Given the description of an element on the screen output the (x, y) to click on. 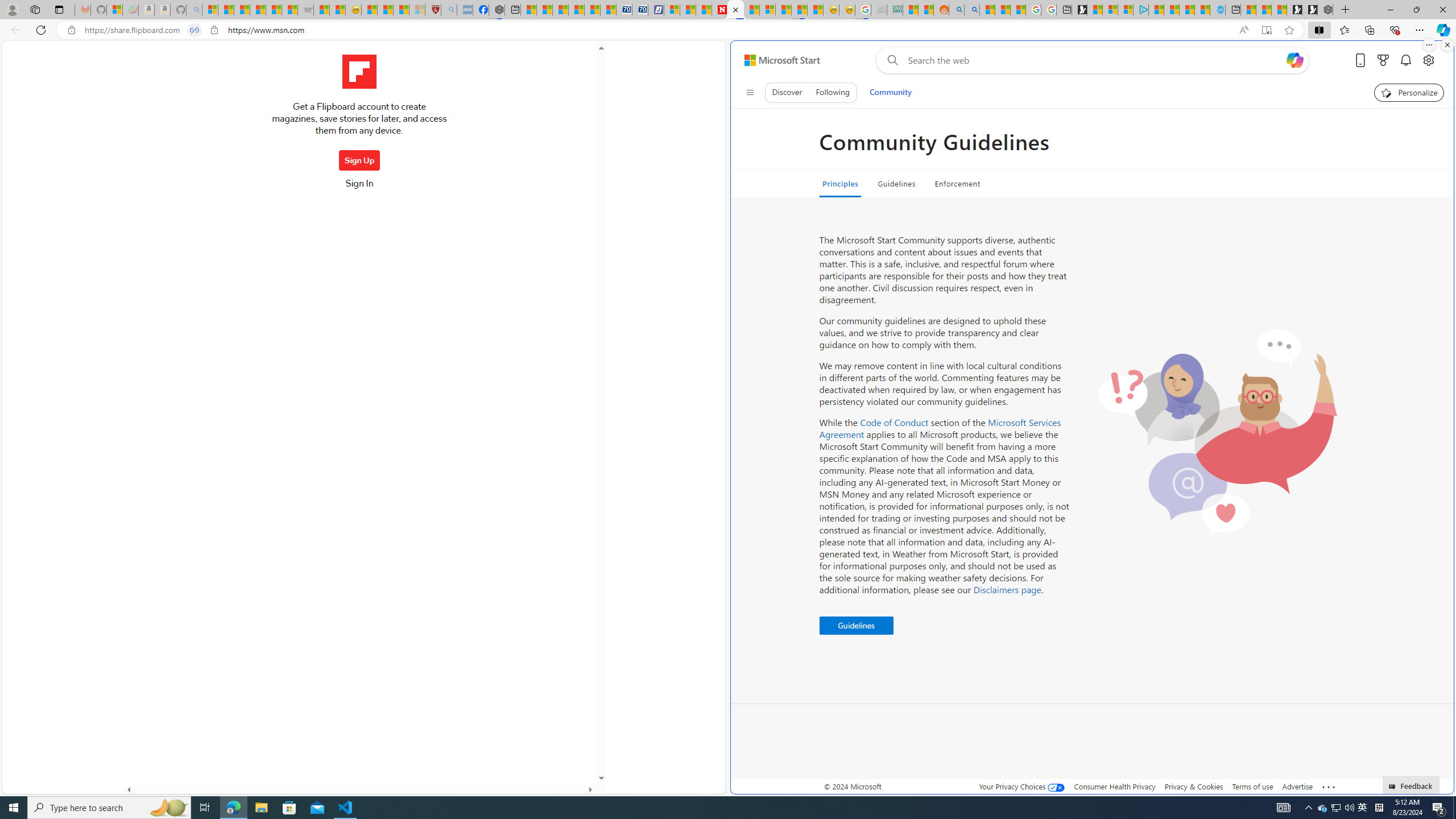
Disclaimers page (1006, 589)
Tabs in split screen (194, 29)
Class: oneFooter_seeMore-DS-EntryPoint1-1 (1328, 786)
